Given the description of an element on the screen output the (x, y) to click on. 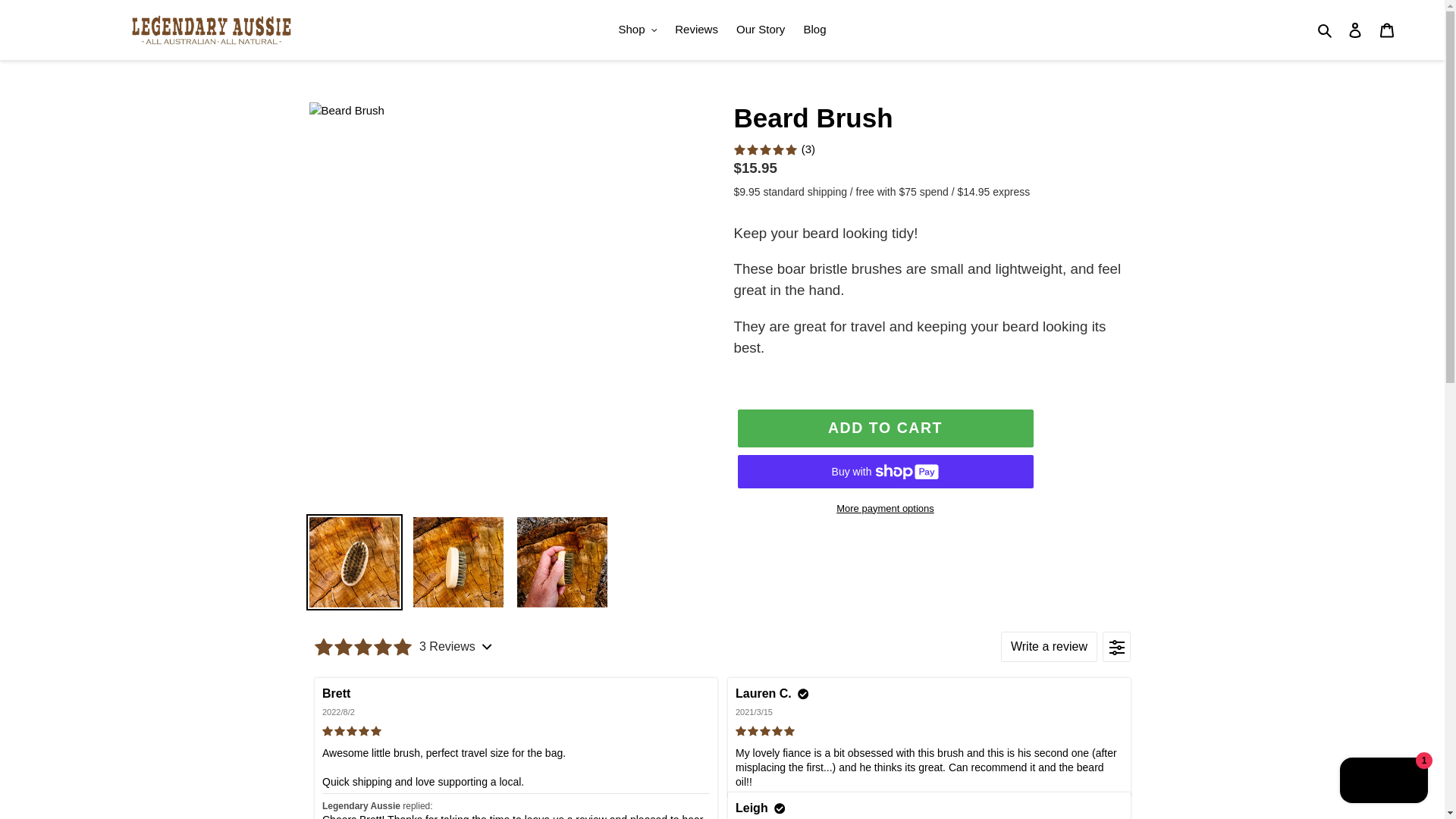
Our Story (760, 29)
Shopify online store chat (1383, 781)
Search (1326, 29)
Reviews (695, 29)
Log in (1355, 29)
Blog (813, 29)
Cart (1387, 29)
Shop (638, 29)
